Given the description of an element on the screen output the (x, y) to click on. 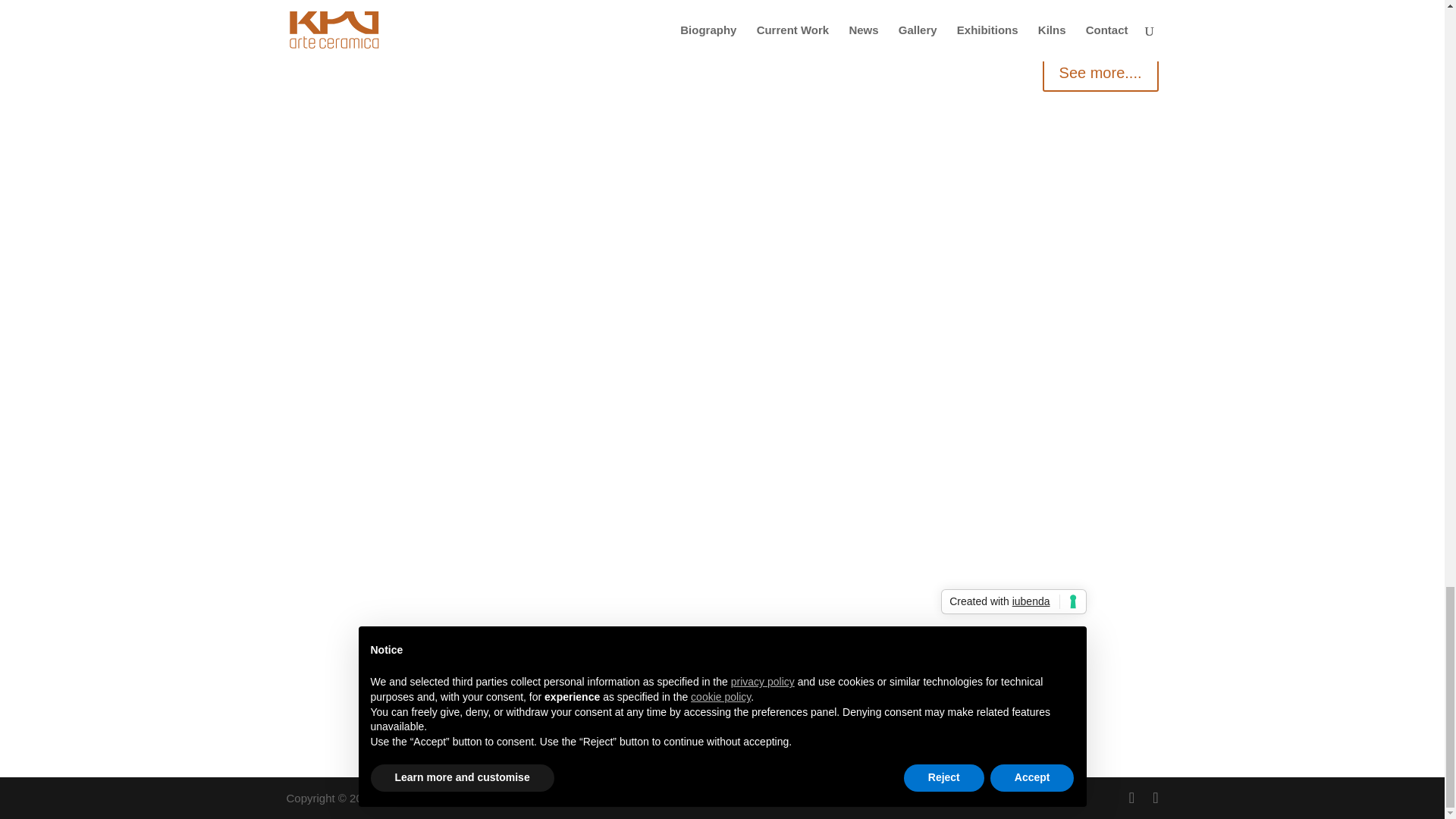
See more.... (1100, 72)
Carlo Grassi (743, 797)
